Given the description of an element on the screen output the (x, y) to click on. 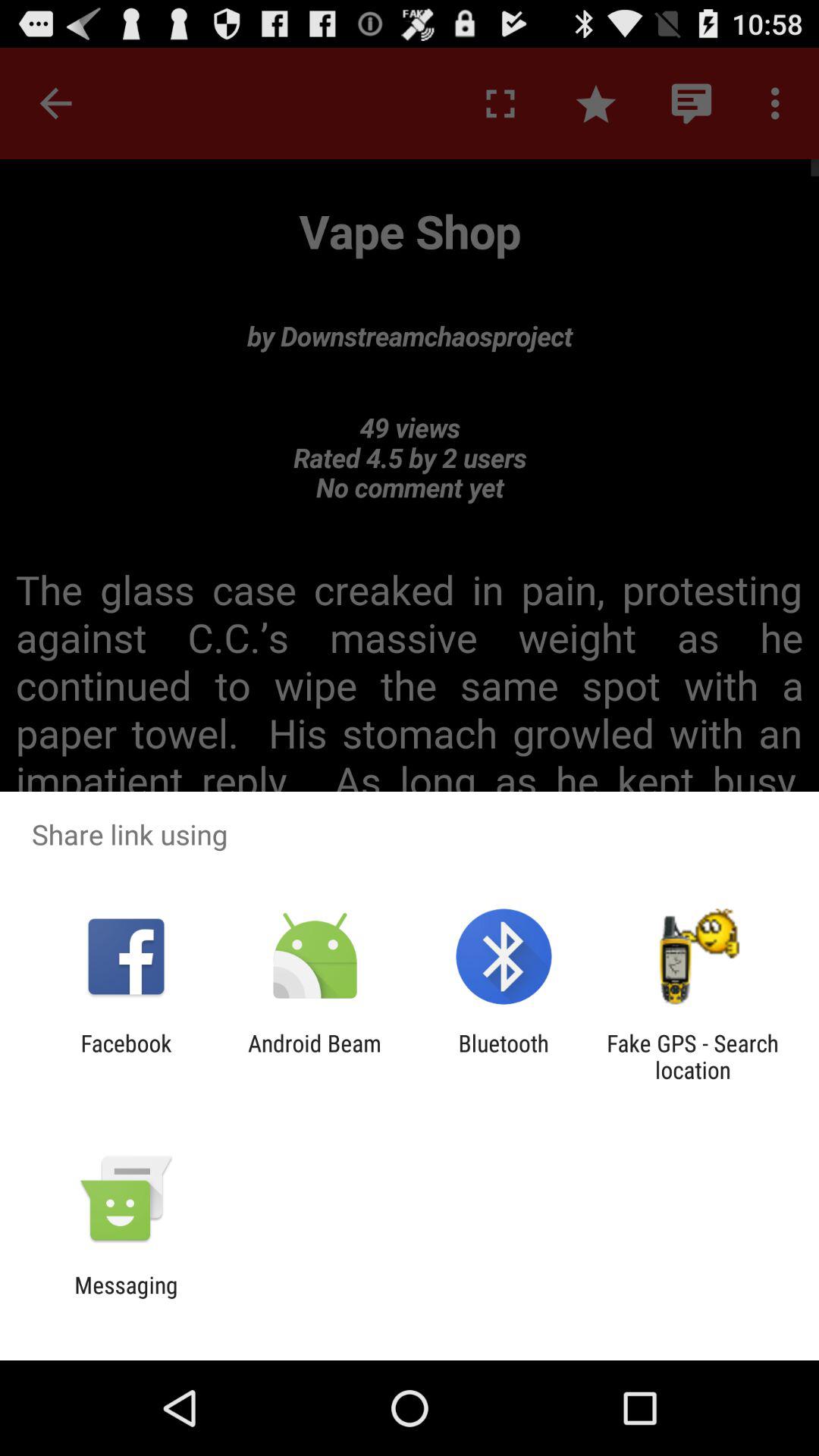
turn off the app next to facebook item (314, 1056)
